Given the description of an element on the screen output the (x, y) to click on. 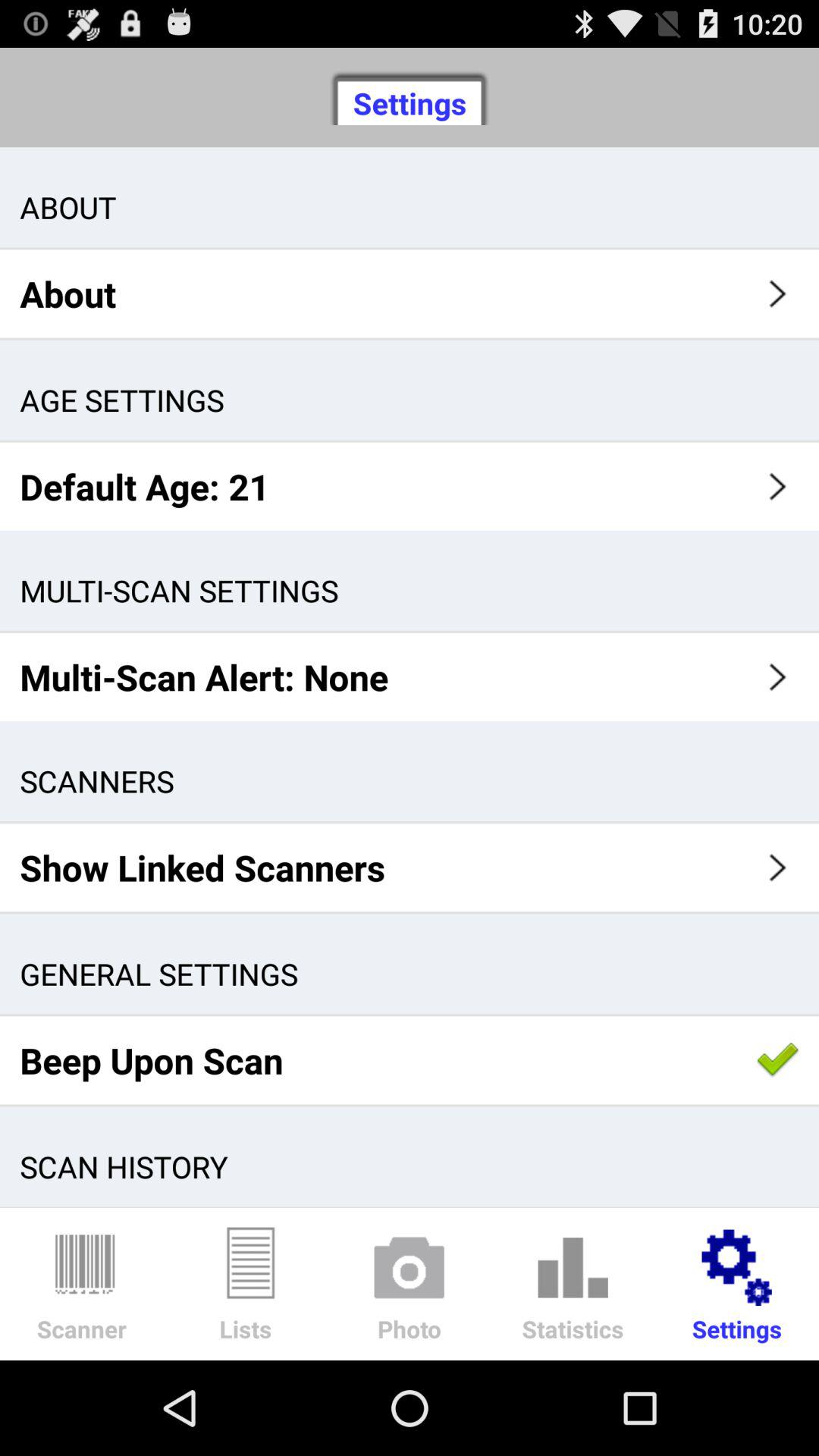
press show linked scanners (409, 867)
